Given the description of an element on the screen output the (x, y) to click on. 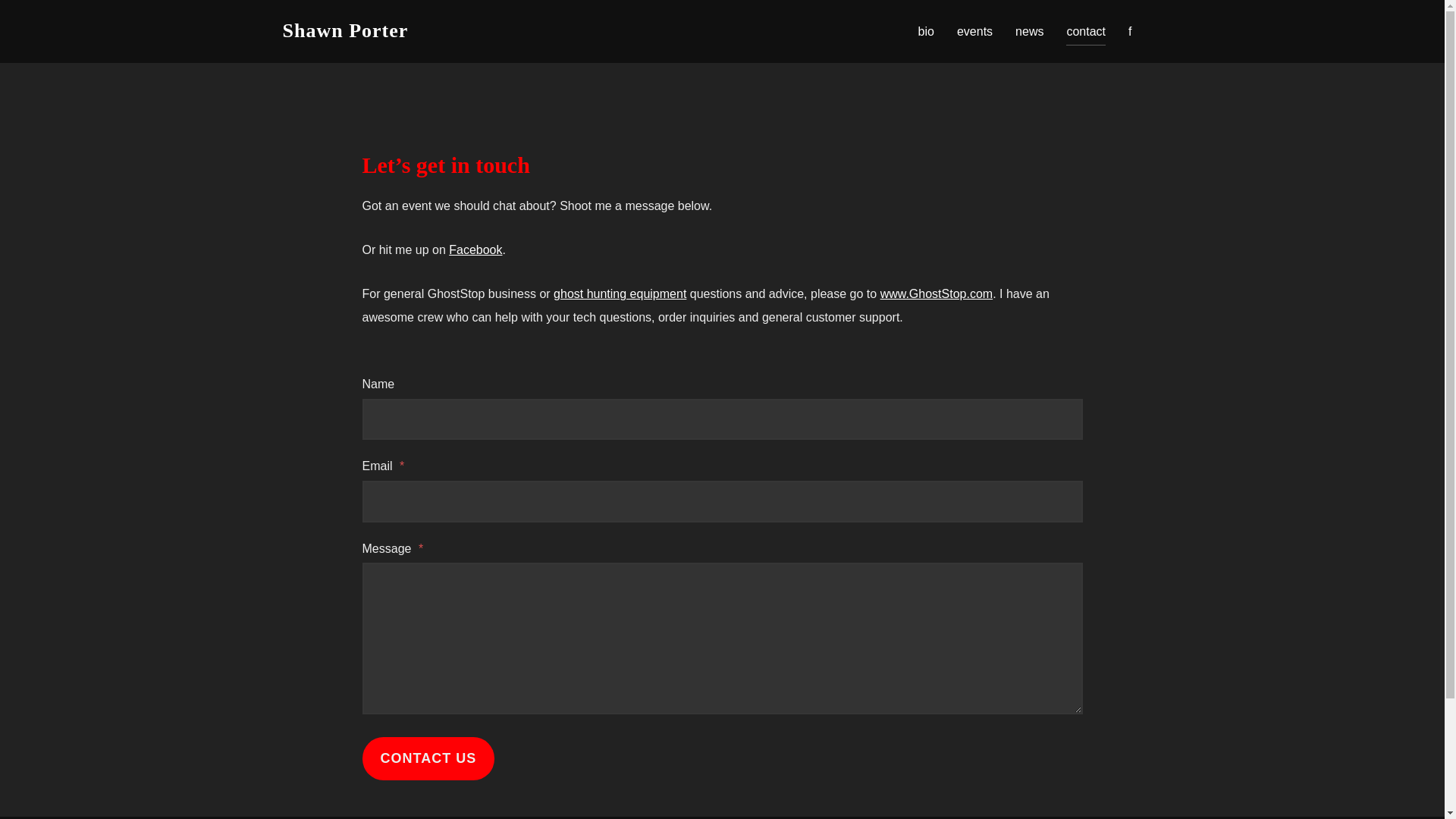
news (1028, 30)
CONTACT US (428, 758)
contact (1085, 30)
ghost hunting equipment (619, 293)
www.GhostStop.com (936, 293)
Facebook (475, 249)
events (974, 30)
Shawn Porter (344, 31)
